Given the description of an element on the screen output the (x, y) to click on. 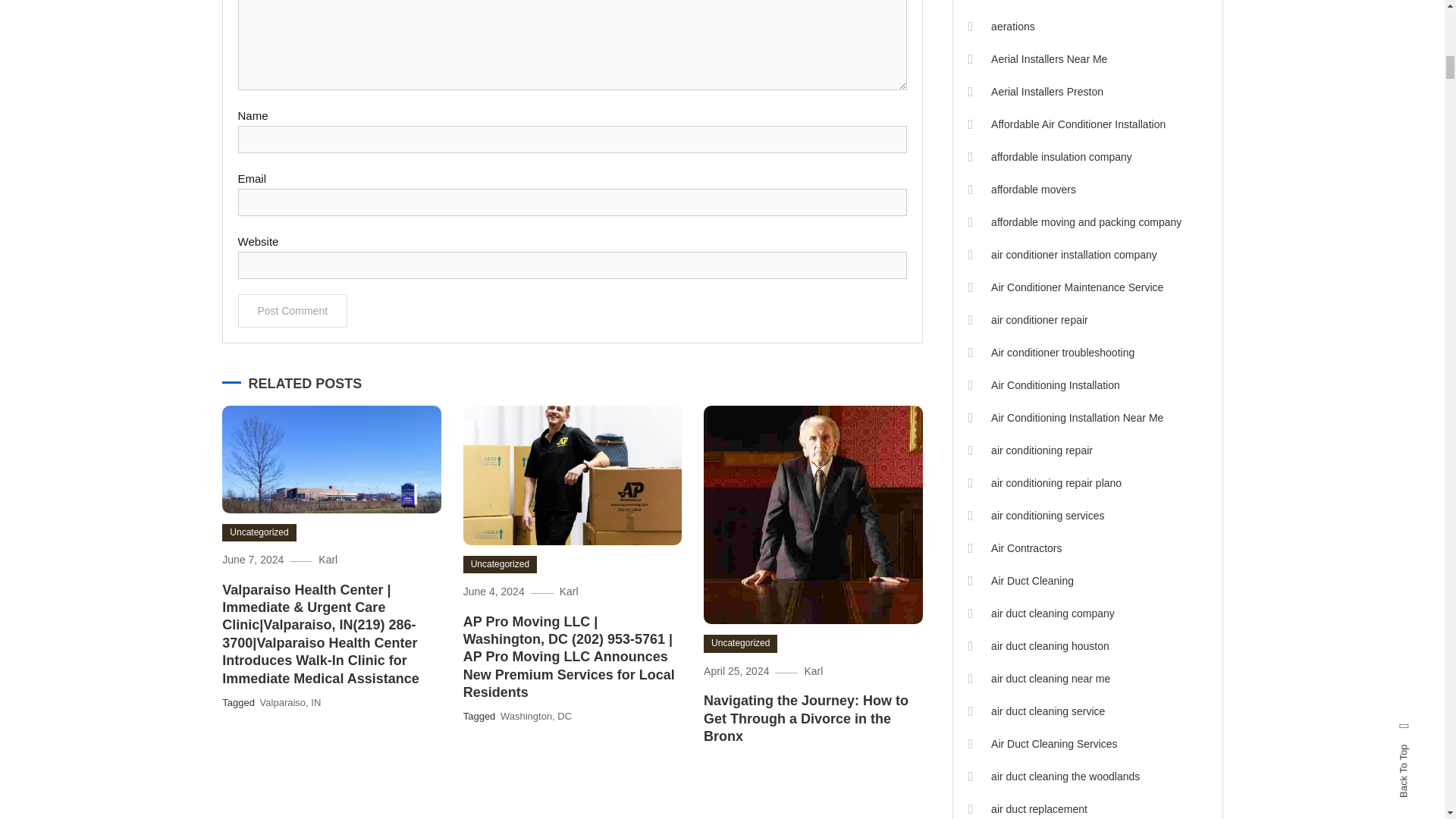
Post Comment (292, 310)
